Given the description of an element on the screen output the (x, y) to click on. 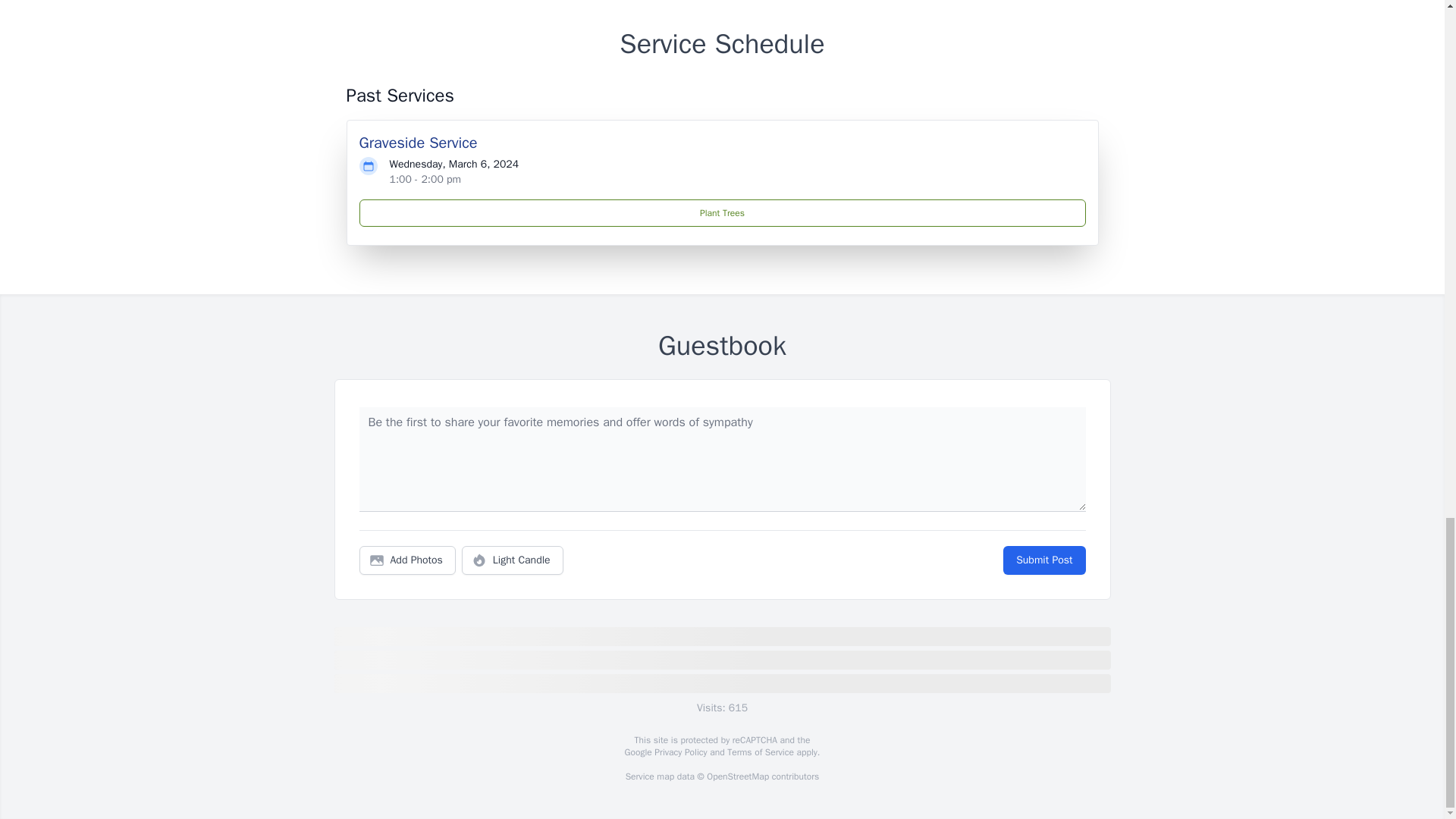
Light Candle (512, 560)
Submit Post (1043, 560)
Privacy Policy (679, 752)
Terms of Service (759, 752)
Add Photos (407, 560)
Plant Trees (722, 212)
OpenStreetMap (737, 776)
